Given the description of an element on the screen output the (x, y) to click on. 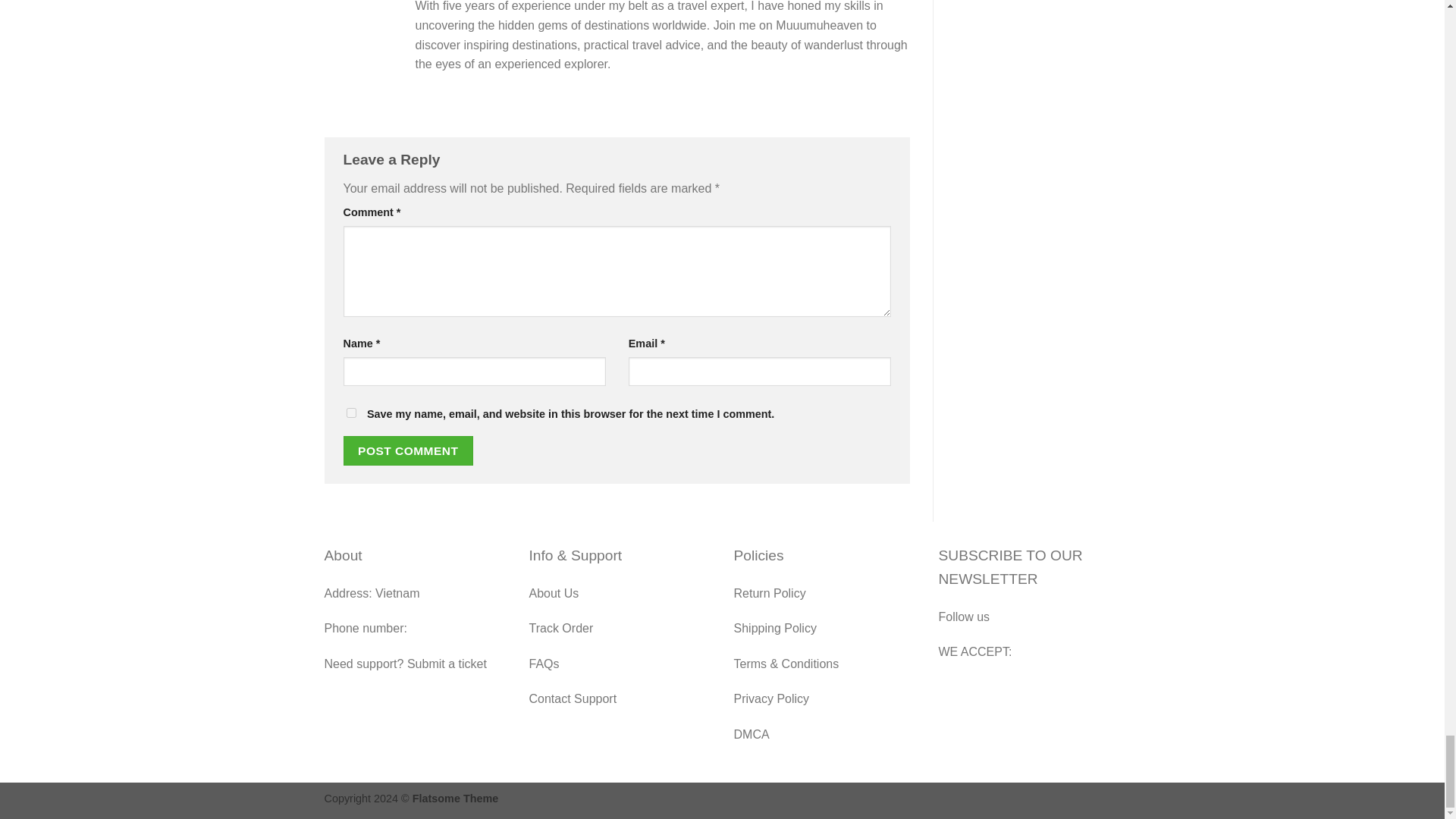
yes (350, 412)
Post Comment (407, 450)
